Given the description of an element on the screen output the (x, y) to click on. 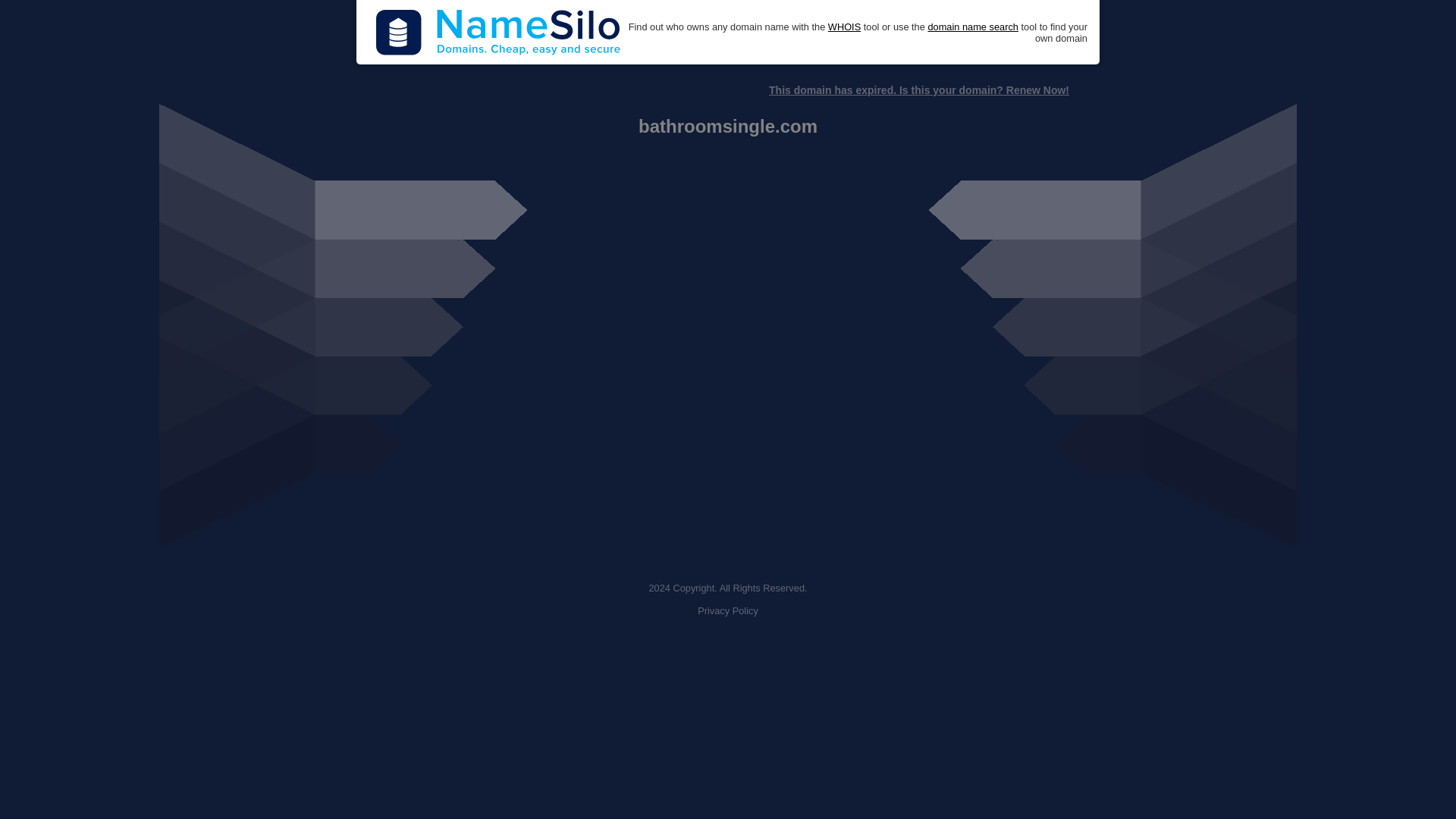
WHOIS (844, 26)
domain name search (972, 26)
This domain has expired. Is this your domain? Renew Now! (918, 90)
Privacy Policy (727, 610)
